Given the description of an element on the screen output the (x, y) to click on. 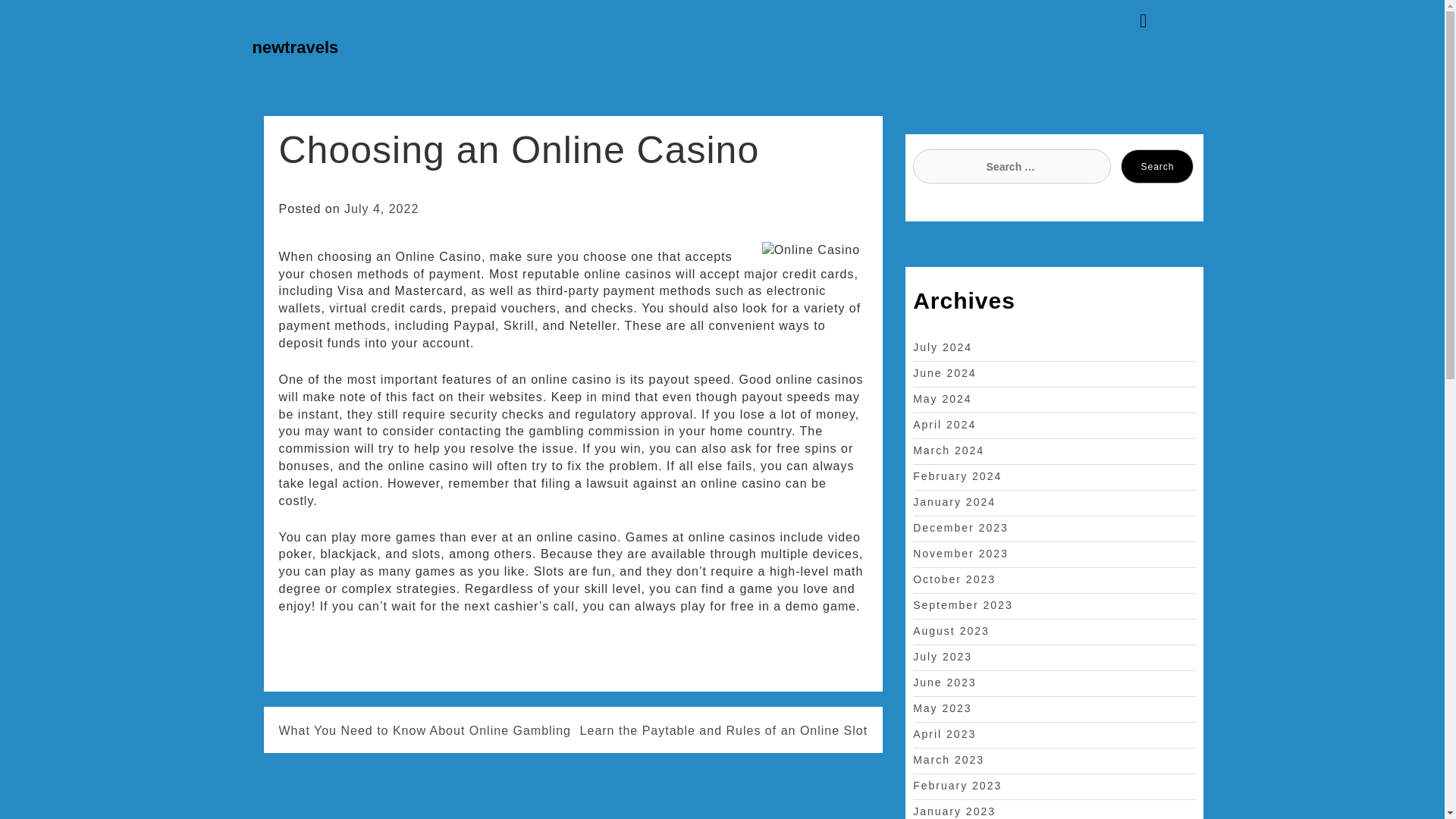
December 2023 (960, 527)
March 2024 (948, 450)
October 2023 (953, 579)
What You Need to Know About Online Gambling (424, 731)
July 2024 (942, 346)
February 2024 (956, 476)
newtravels (294, 46)
June 2023 (943, 682)
Search (1157, 166)
September 2023 (962, 604)
January 2024 (953, 501)
March 2023 (948, 759)
February 2023 (956, 785)
November 2023 (960, 553)
April 2023 (943, 734)
